Given the description of an element on the screen output the (x, y) to click on. 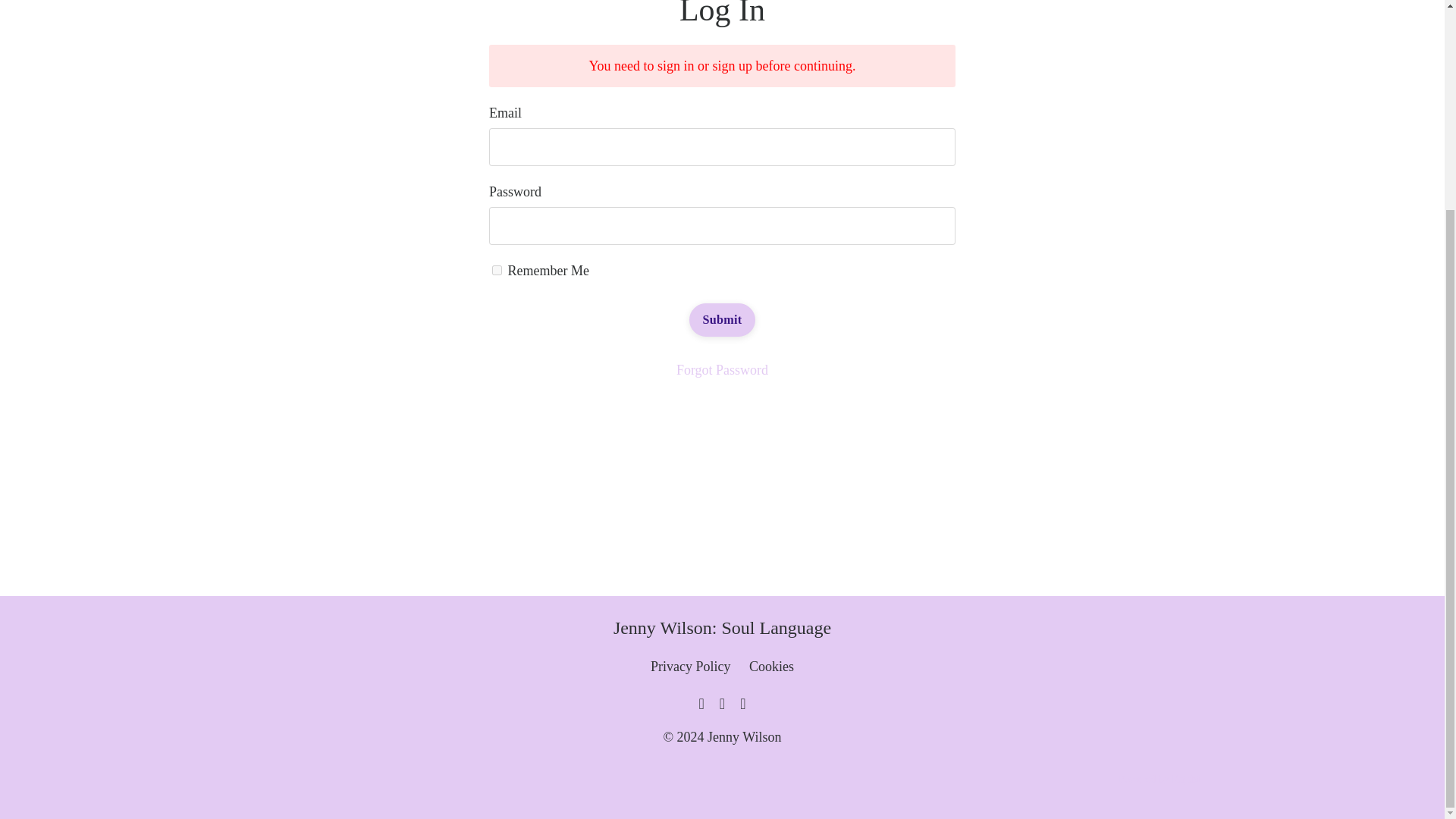
Forgot Password (722, 369)
Privacy Policy (691, 666)
Cookies (771, 666)
1 (497, 270)
Powered by Kajabi (1158, 778)
Submit (721, 319)
Jenny Wilson: Soul Language (721, 628)
